Given the description of an element on the screen output the (x, y) to click on. 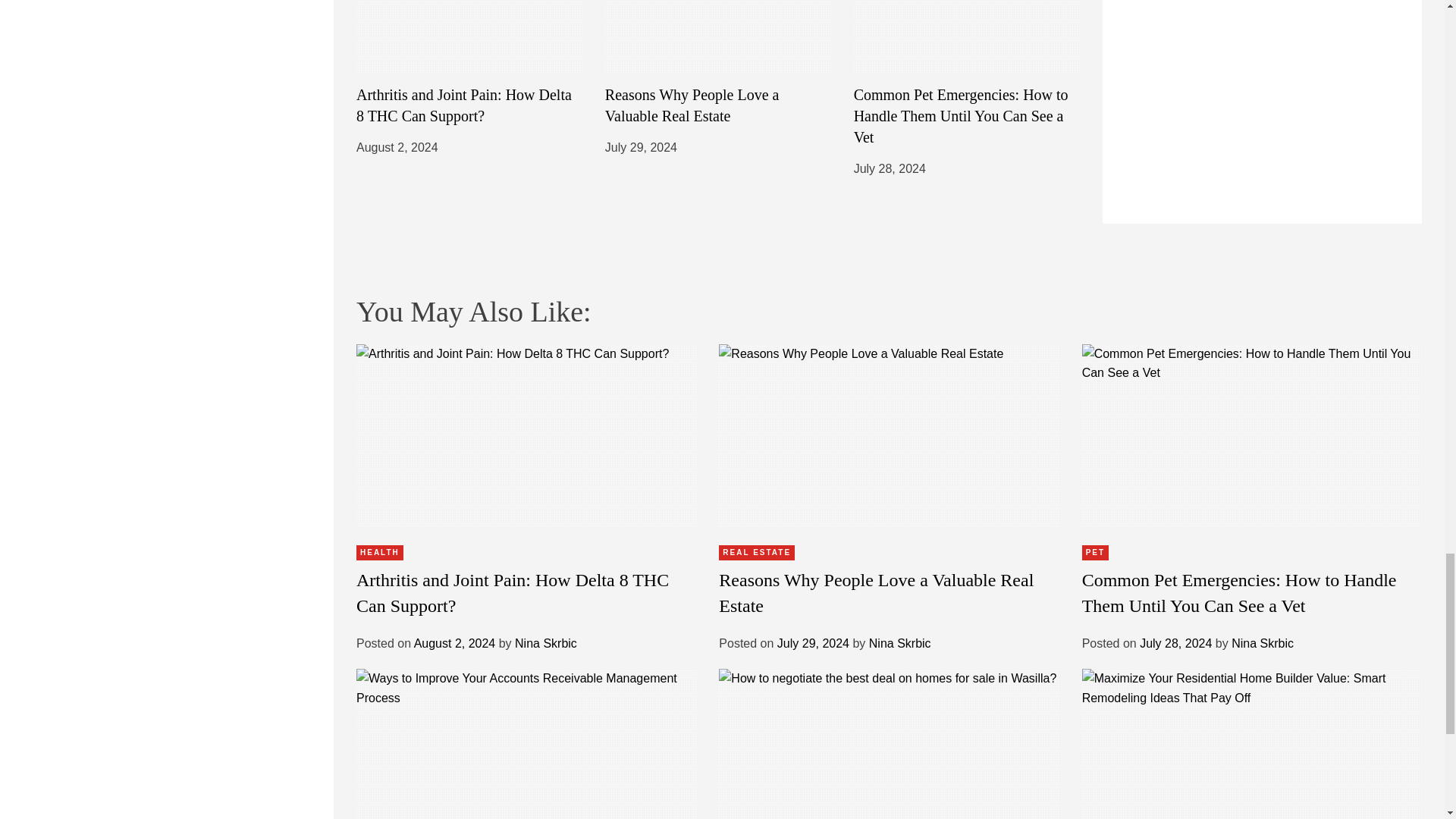
Reasons Why People Love a Valuable Real Estate (691, 105)
Arthritis and Joint Pain: How Delta 8 THC Can Support? (464, 105)
